Given the description of an element on the screen output the (x, y) to click on. 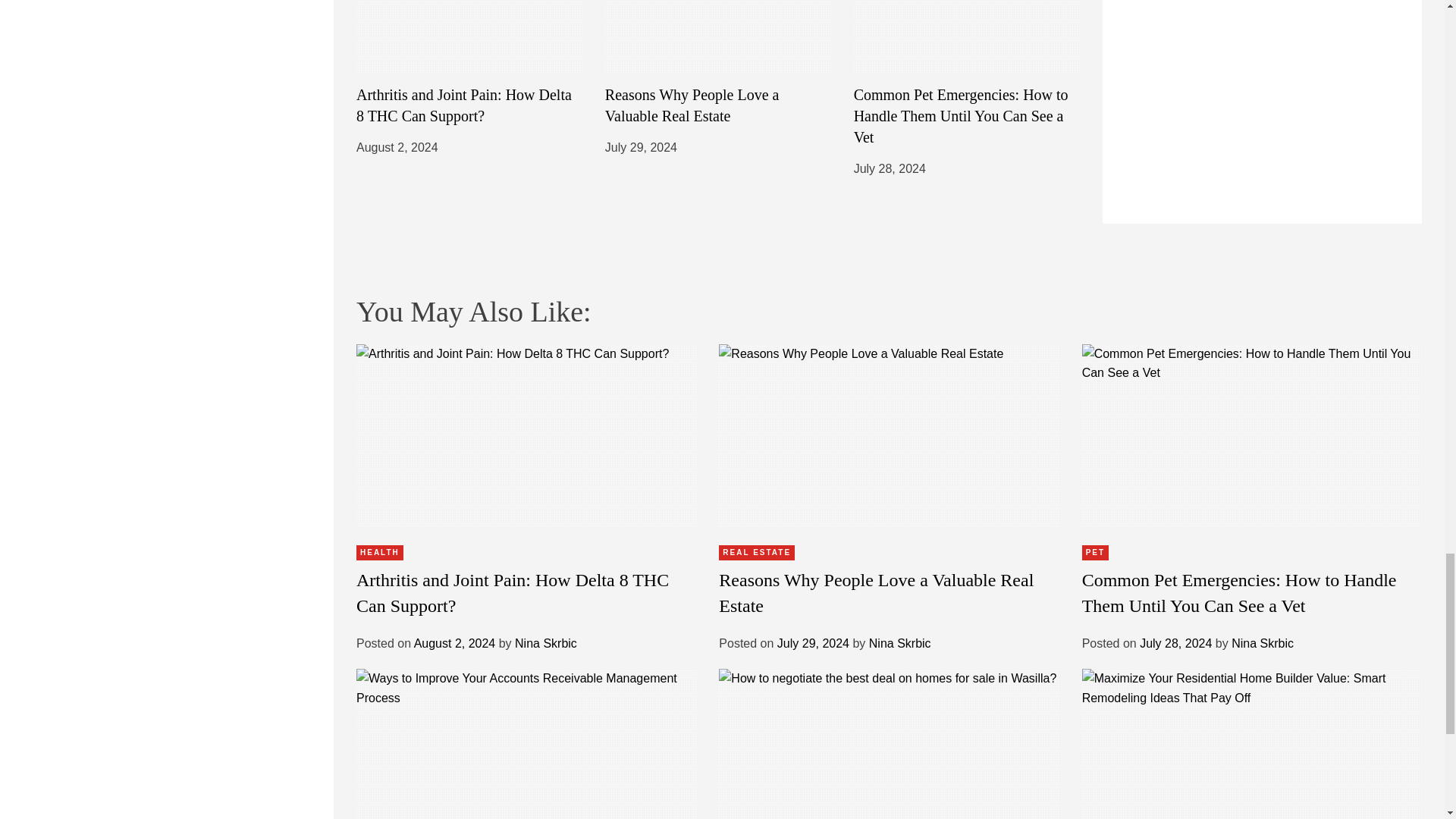
Reasons Why People Love a Valuable Real Estate (691, 105)
Arthritis and Joint Pain: How Delta 8 THC Can Support? (464, 105)
